Given the description of an element on the screen output the (x, y) to click on. 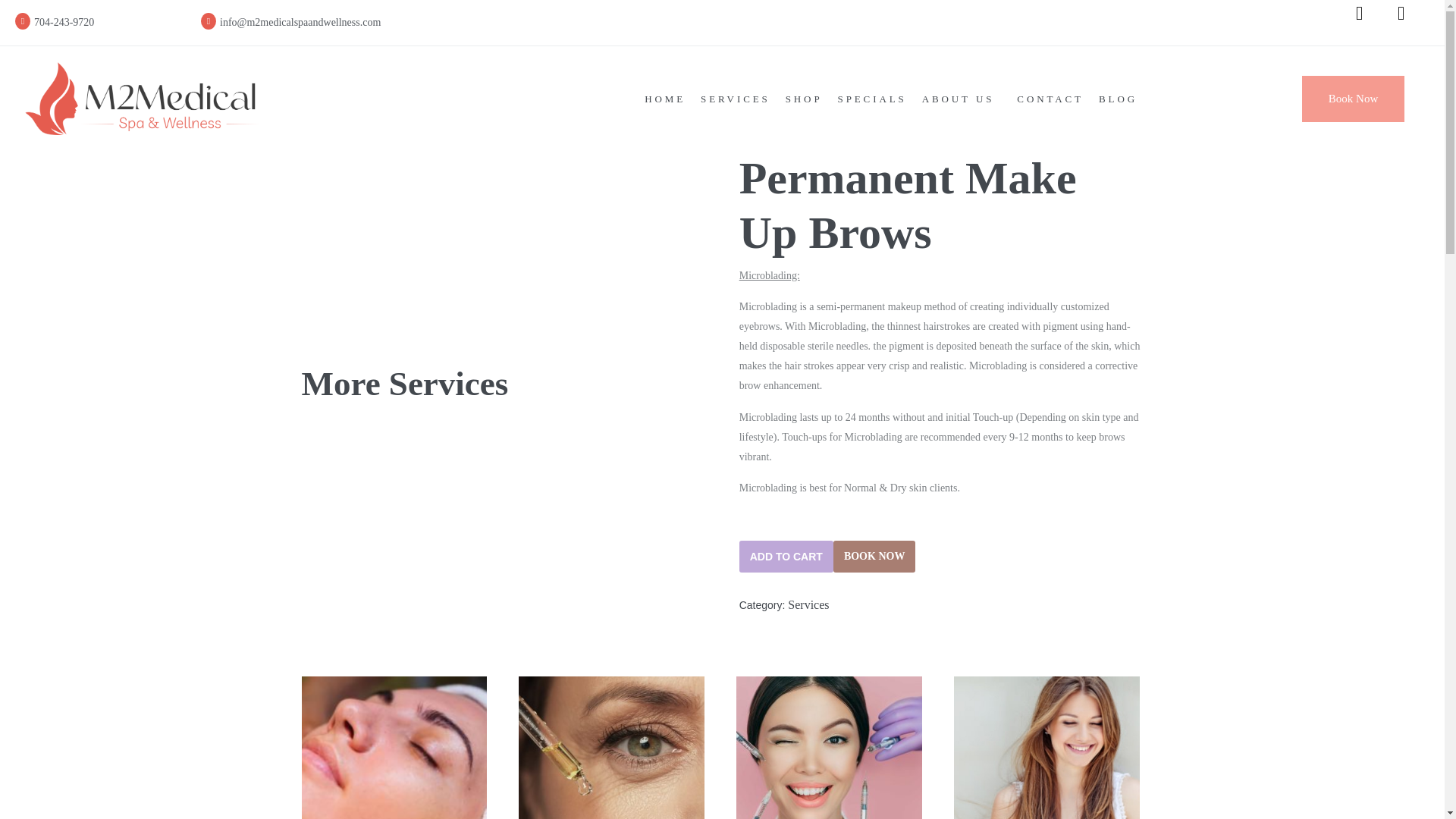
SHOP (803, 98)
BOOK NOW (873, 556)
SPECIALS (871, 98)
Advanced Skin Care (611, 747)
SERVICES (735, 98)
ABOUT US (962, 98)
CONTACT (1049, 98)
Book Now (1353, 99)
ADD TO CART (785, 556)
Services (807, 604)
